Given the description of an element on the screen output the (x, y) to click on. 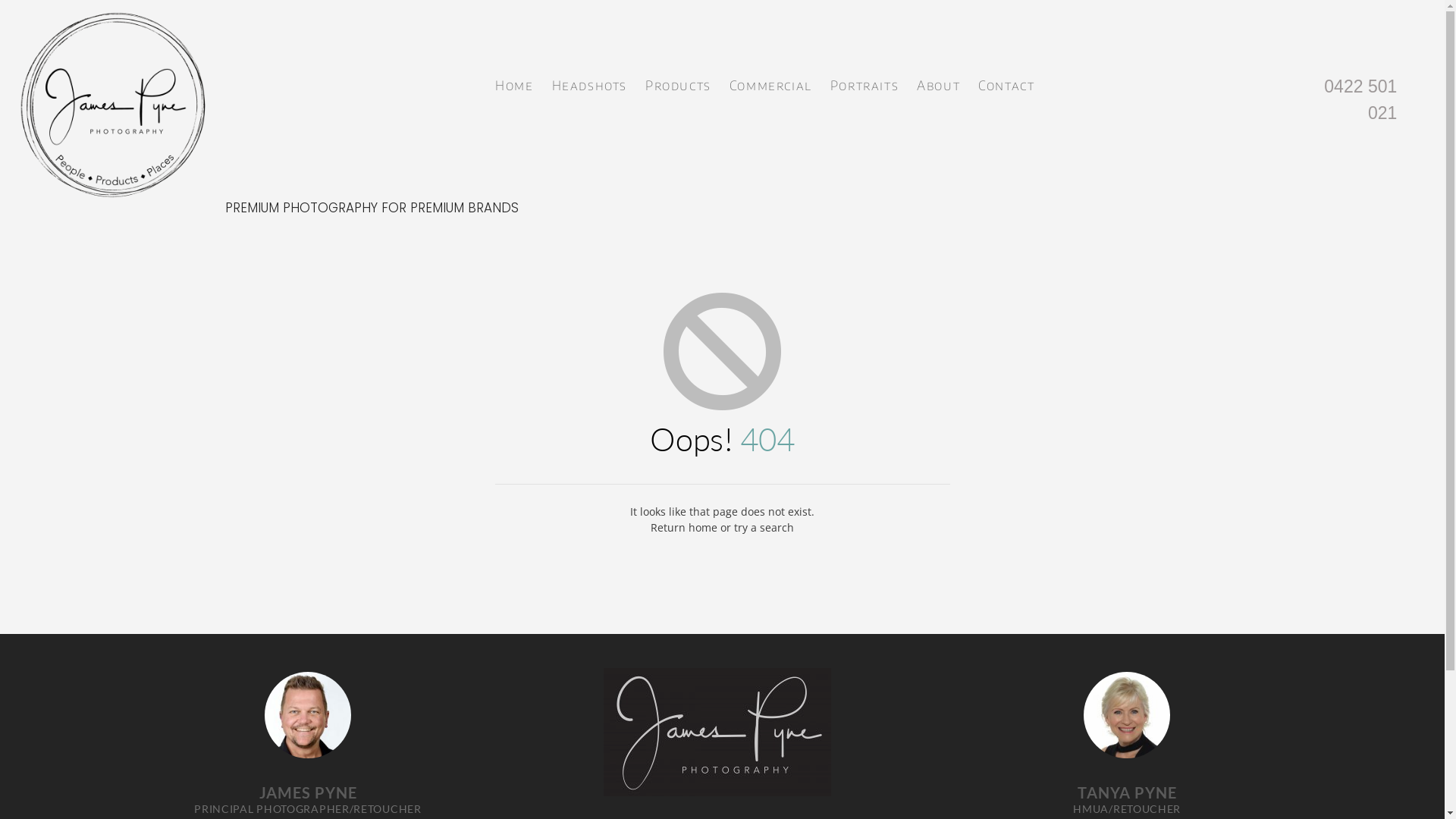
Commercial Element type: text (770, 81)
Headshots Element type: text (589, 81)
Home Element type: text (513, 81)
Portraits Element type: text (864, 81)
Contact Element type: text (1006, 81)
About Element type: text (938, 81)
Products Element type: text (678, 81)
